Given the description of an element on the screen output the (x, y) to click on. 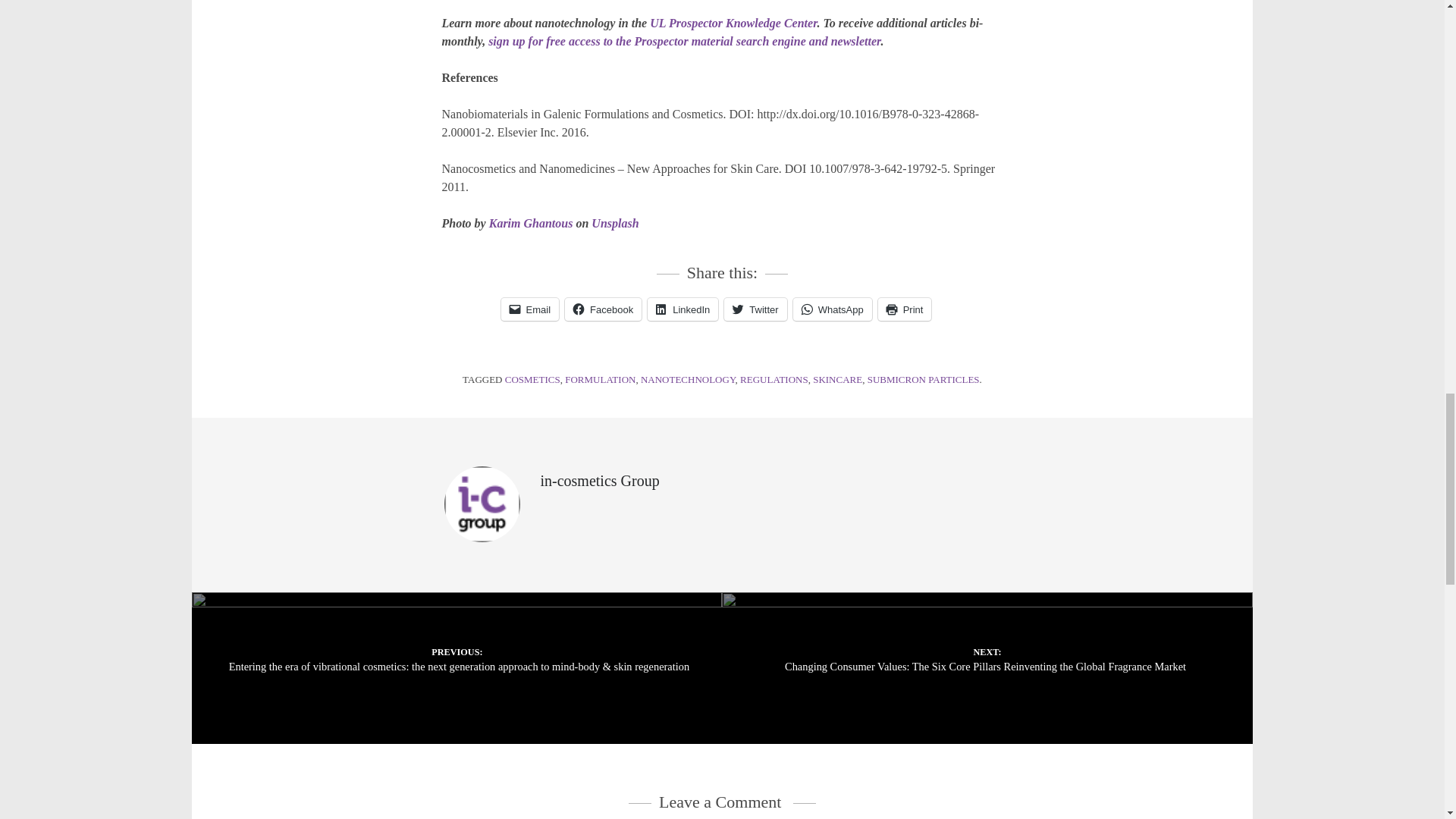
Click to share on LinkedIn (682, 309)
Click to share on Twitter (754, 309)
Click to print (904, 309)
UL Prospector Knowledge Center (732, 22)
Click to share on Facebook (603, 309)
Click to share on WhatsApp (832, 309)
Click to email a link to a friend (529, 309)
